Given the description of an element on the screen output the (x, y) to click on. 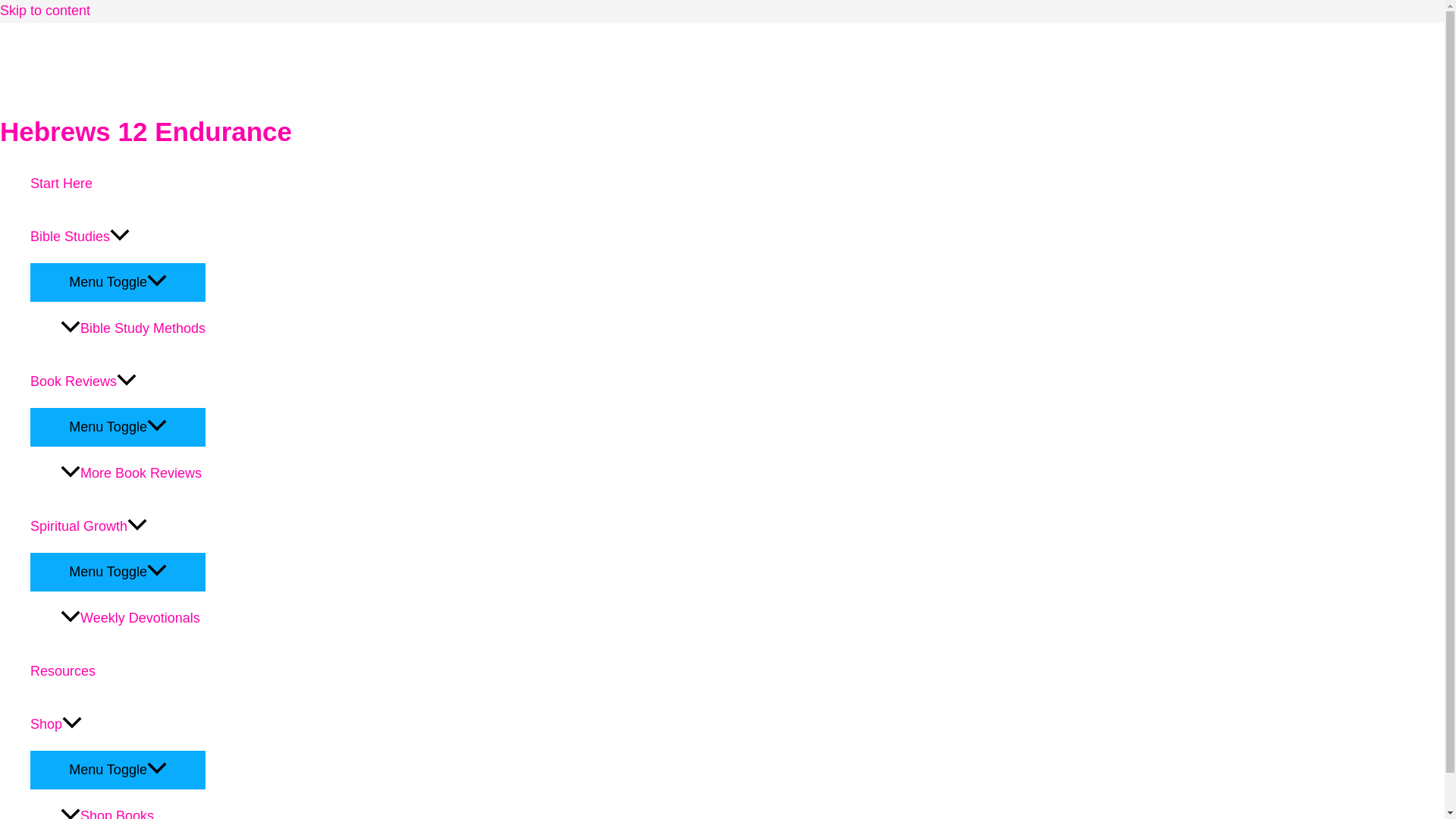
Menu Toggle (117, 769)
Bible Studies (117, 235)
Menu Toggle (117, 570)
Spiritual Growth (117, 525)
Shop (117, 724)
Menu Toggle (117, 281)
Menu Toggle (117, 426)
Skip to content (45, 10)
More Book Reviews (133, 472)
Hebrews 12 Endurance (146, 131)
Book Reviews (117, 380)
Bible Study Methods (133, 328)
Resources (117, 670)
Weekly Devotionals (133, 617)
Shop Books (133, 804)
